Given the description of an element on the screen output the (x, y) to click on. 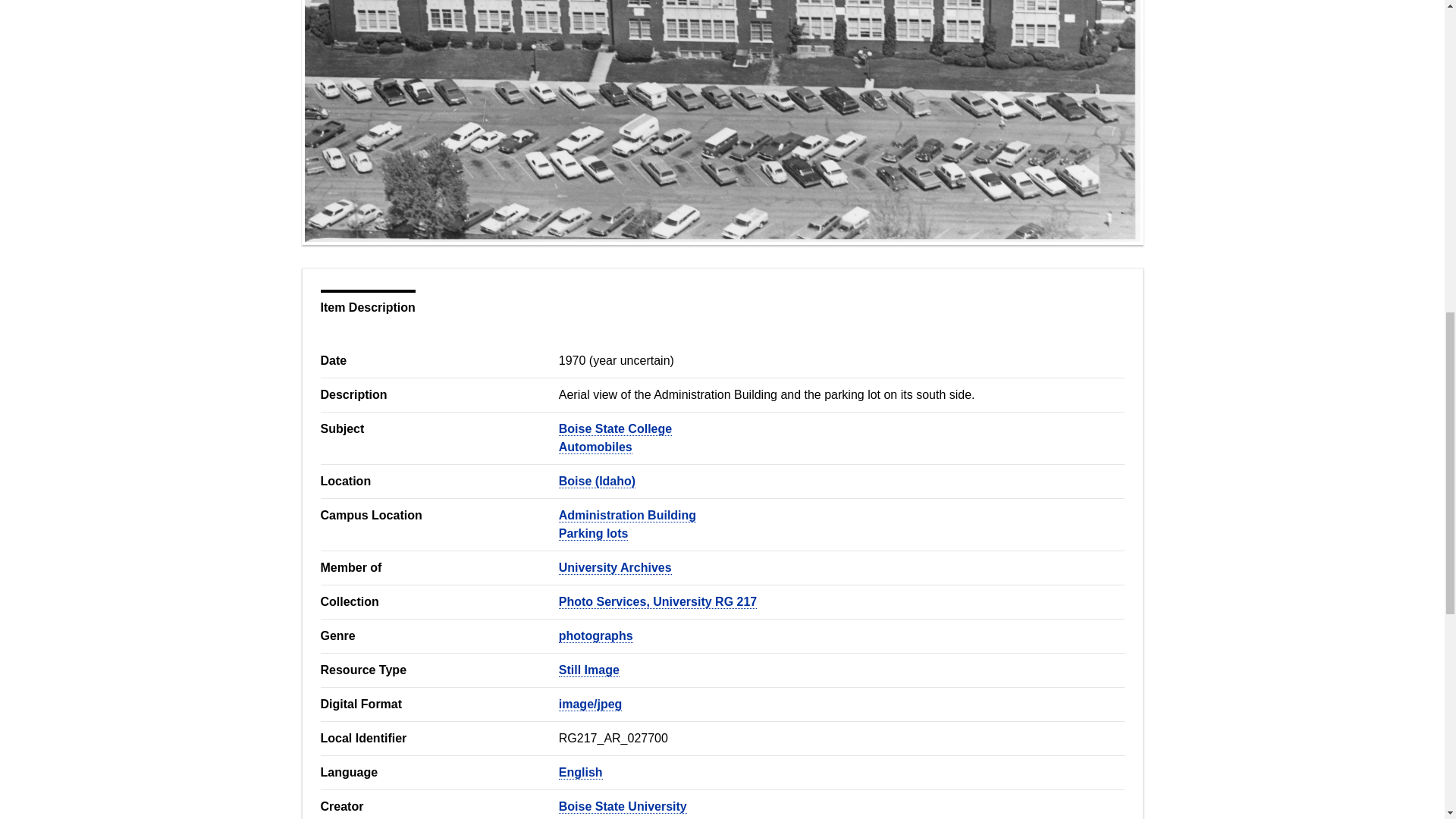
Boise State University (623, 807)
English (580, 772)
Administration Building (627, 515)
Still Image (589, 670)
Photo Services, University RG 217 (658, 602)
photographs (596, 635)
Parking lots (593, 533)
University Archives (615, 567)
Boise State College (615, 428)
Automobiles (595, 447)
